Given the description of an element on the screen output the (x, y) to click on. 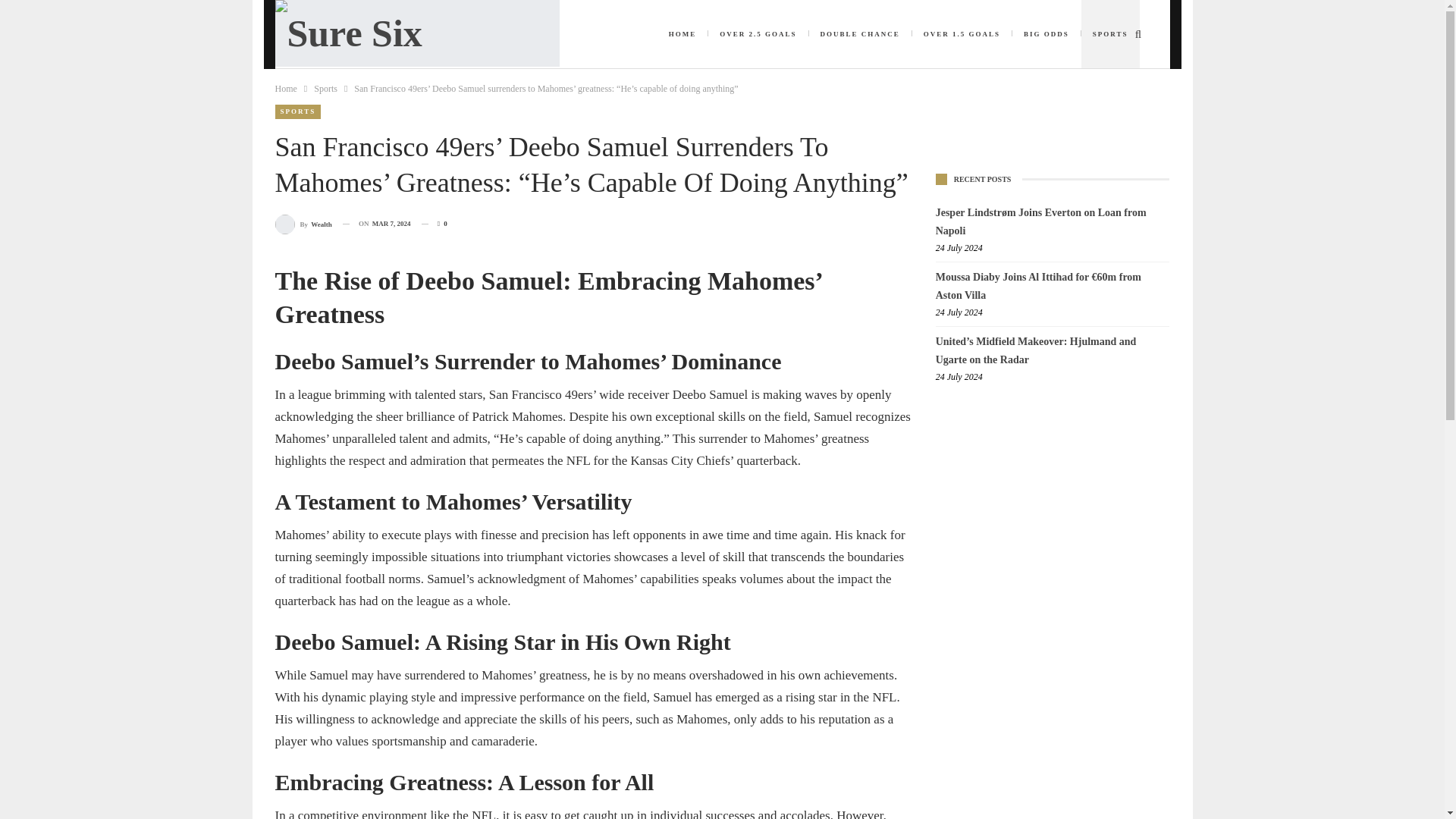
Sports (325, 88)
Home (286, 88)
DOUBLE CHANCE (859, 33)
By Wealth (303, 223)
Browse Author Articles (303, 223)
BIG ODDS (1045, 33)
OVER 2.5 GOALS (757, 33)
SPORTS (297, 111)
0 (434, 223)
OVER 1.5 GOALS (961, 33)
